Given the description of an element on the screen output the (x, y) to click on. 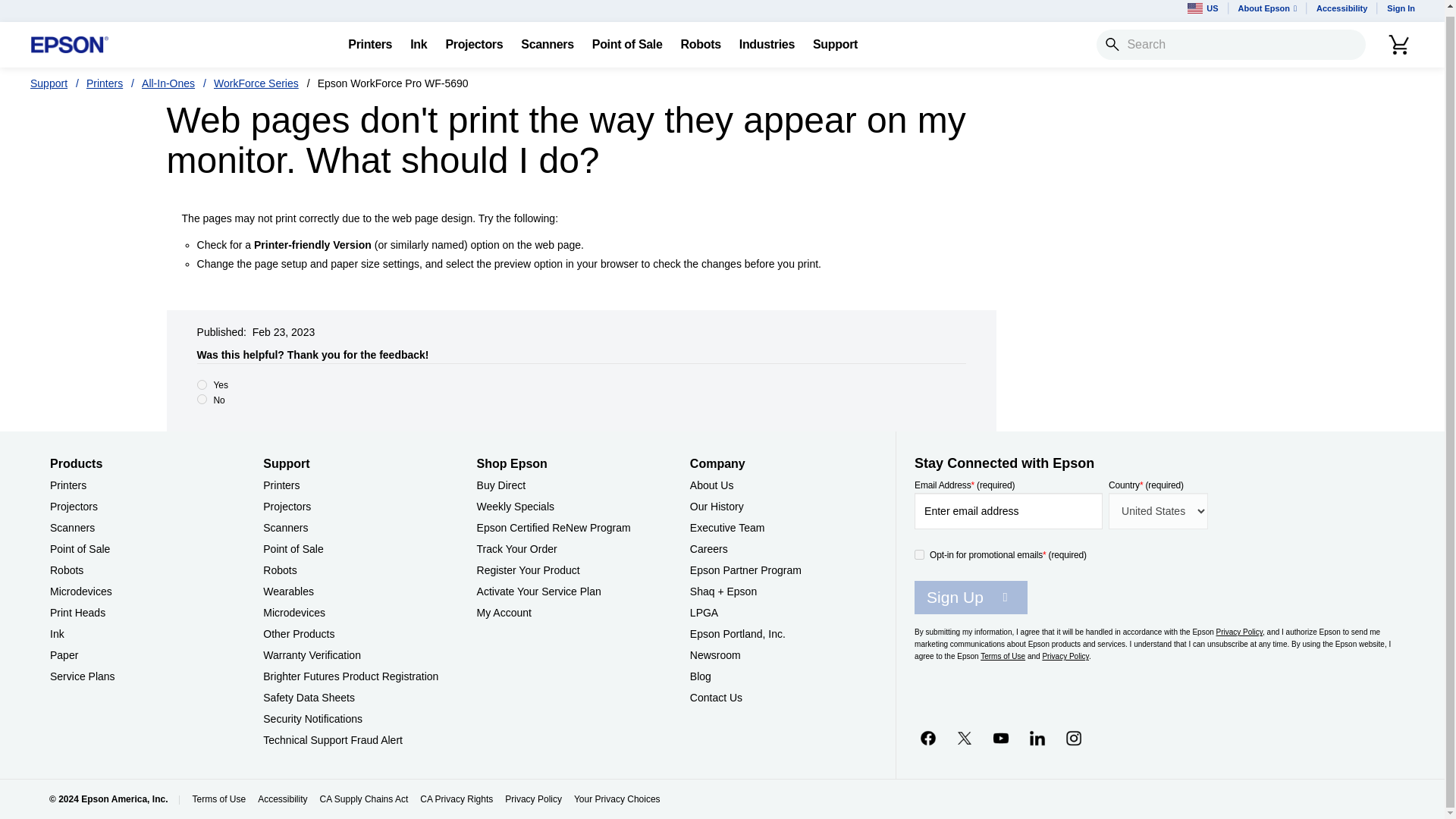
US (1202, 11)
on (919, 554)
US (1202, 11)
Epson Logo (69, 45)
Sign In (1400, 11)
About Epson (1267, 11)
no (201, 398)
Sign In (1400, 11)
Accessibility (1341, 11)
Accessibility (1341, 11)
yes (201, 384)
